Given the description of an element on the screen output the (x, y) to click on. 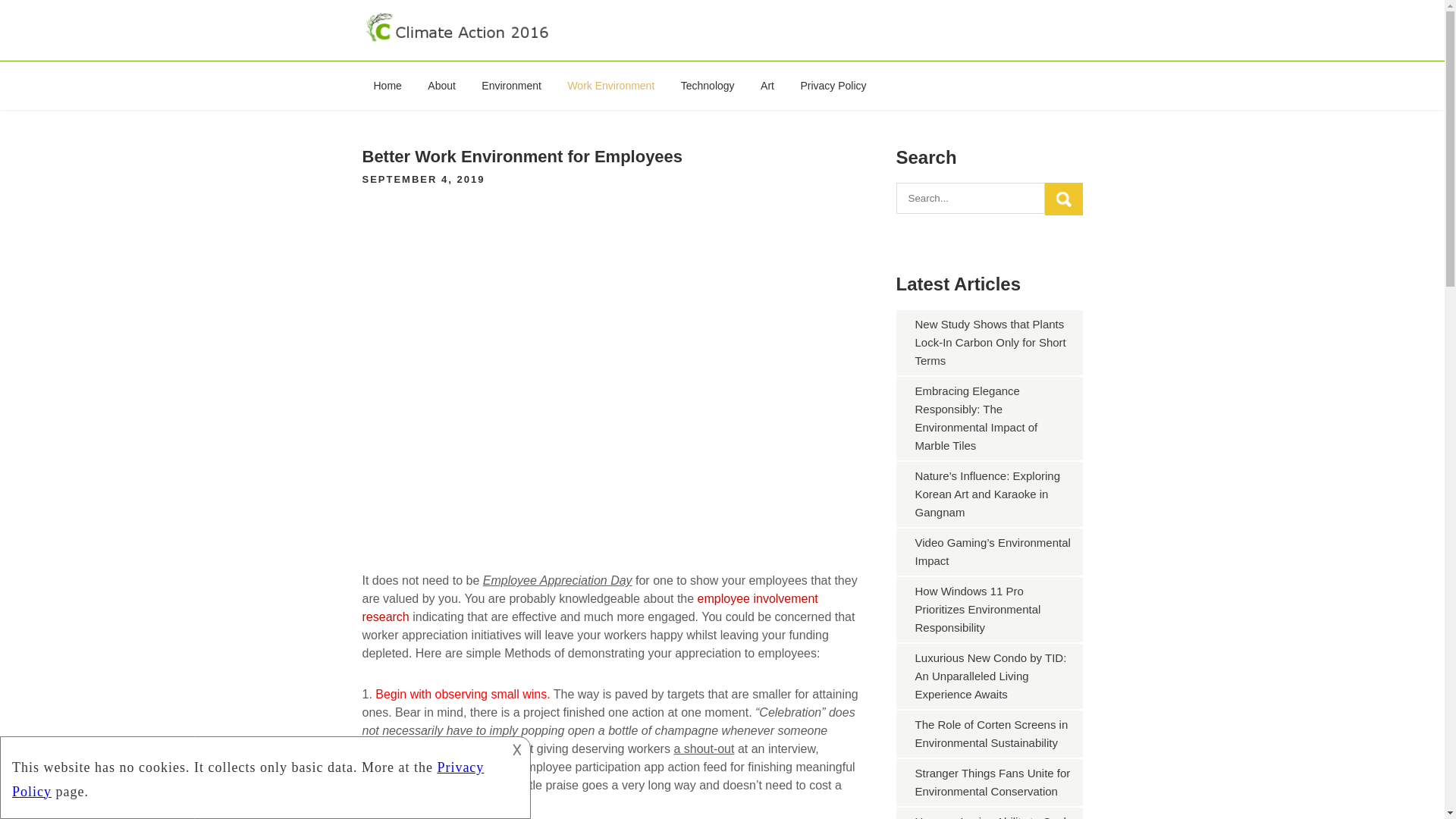
Work Environment (610, 85)
The Role of Corten Screens in Environmental Sustainability (990, 733)
Home (387, 85)
Environment (511, 85)
Search (1063, 198)
Privacy Policy (833, 85)
Technology (707, 85)
Climate Action 2016 (462, 60)
Stranger Things Fans Unite for Environmental Conservation (992, 781)
